Given the description of an element on the screen output the (x, y) to click on. 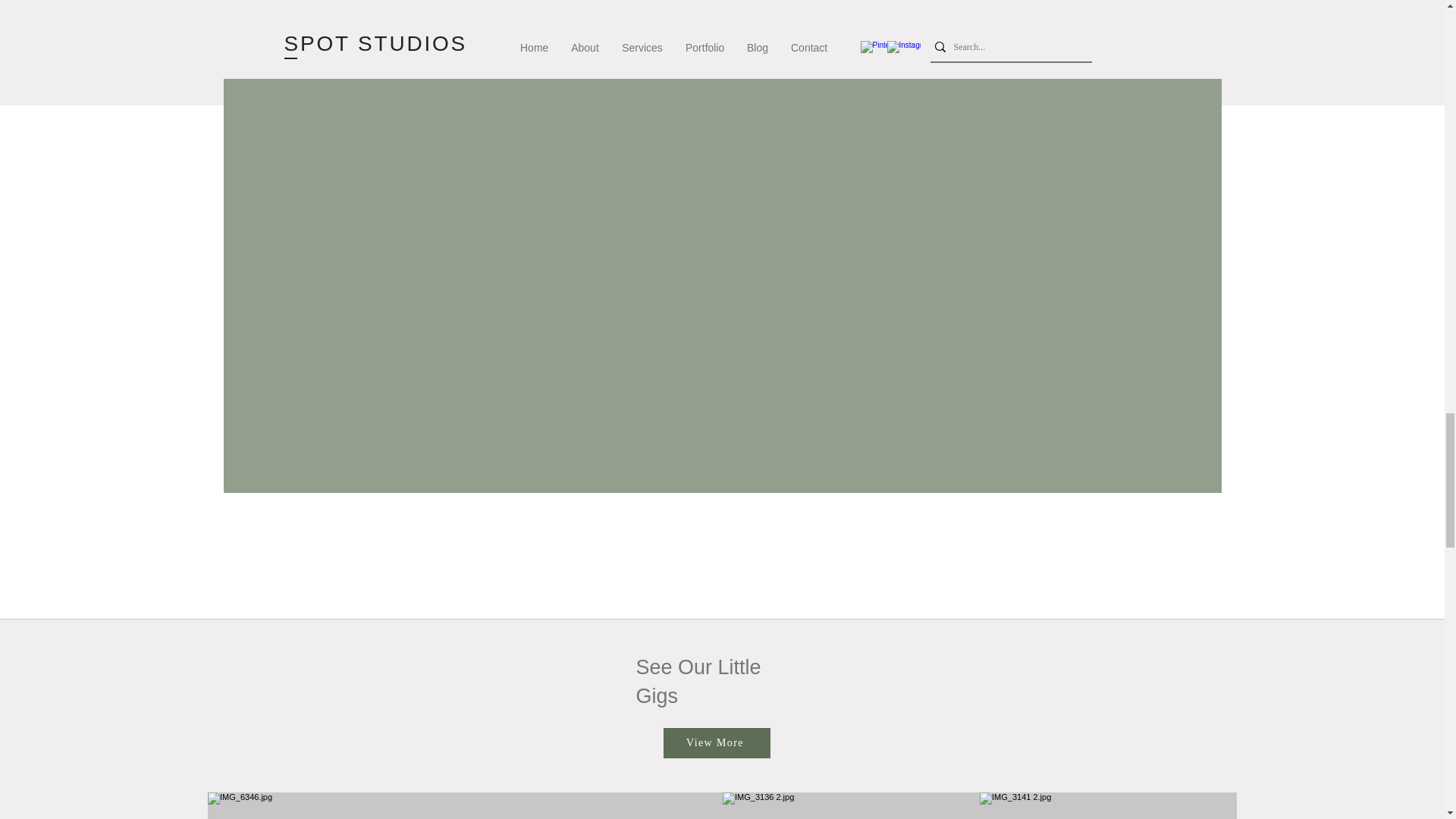
View More (716, 743)
